Given the description of an element on the screen output the (x, y) to click on. 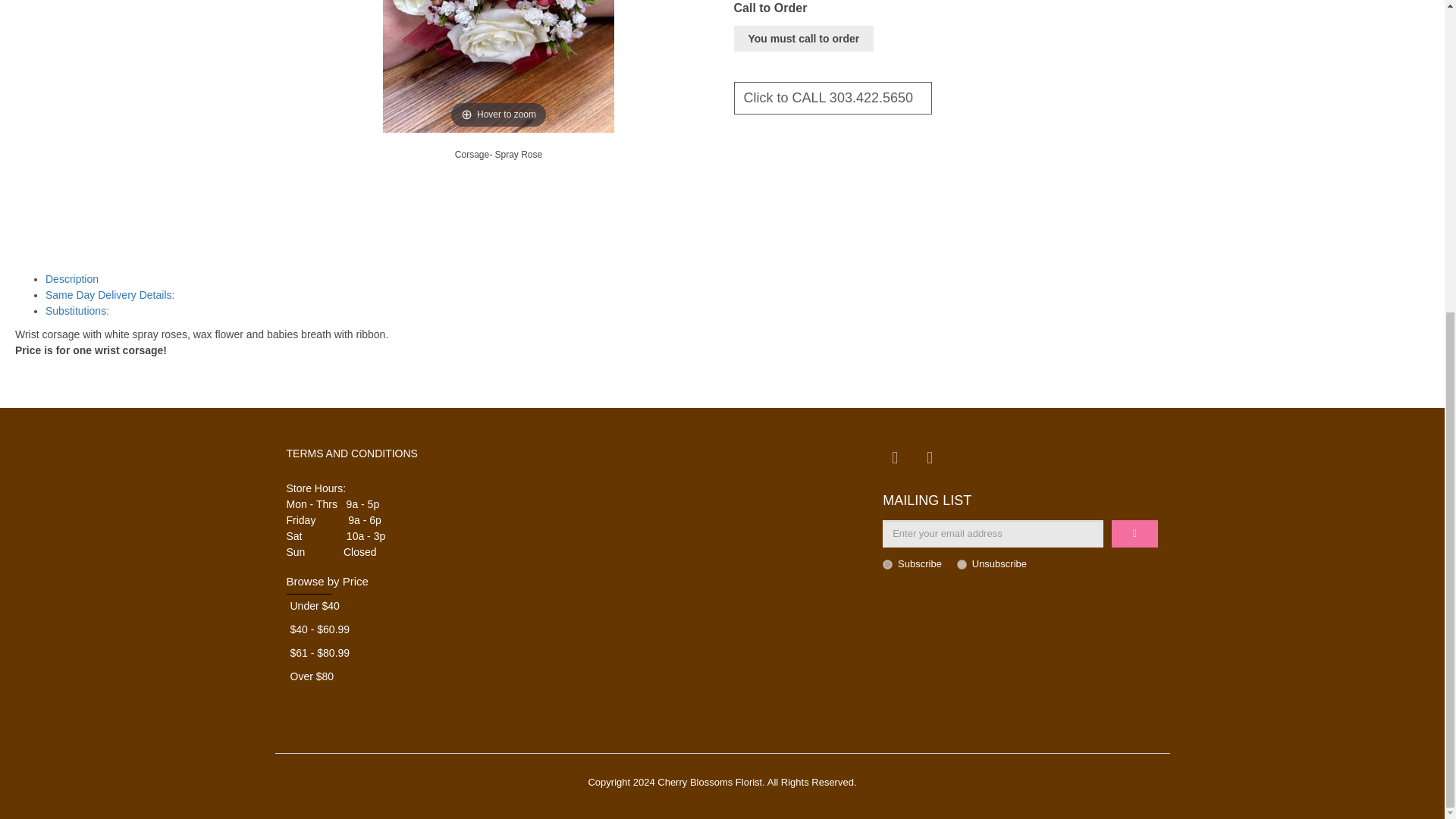
Follow Us on Instagram (929, 457)
Corsage- Spray Rose  (498, 154)
1 (887, 564)
You must call to order (804, 38)
0 (961, 564)
Like Us on Facebook (894, 457)
